Given the description of an element on the screen output the (x, y) to click on. 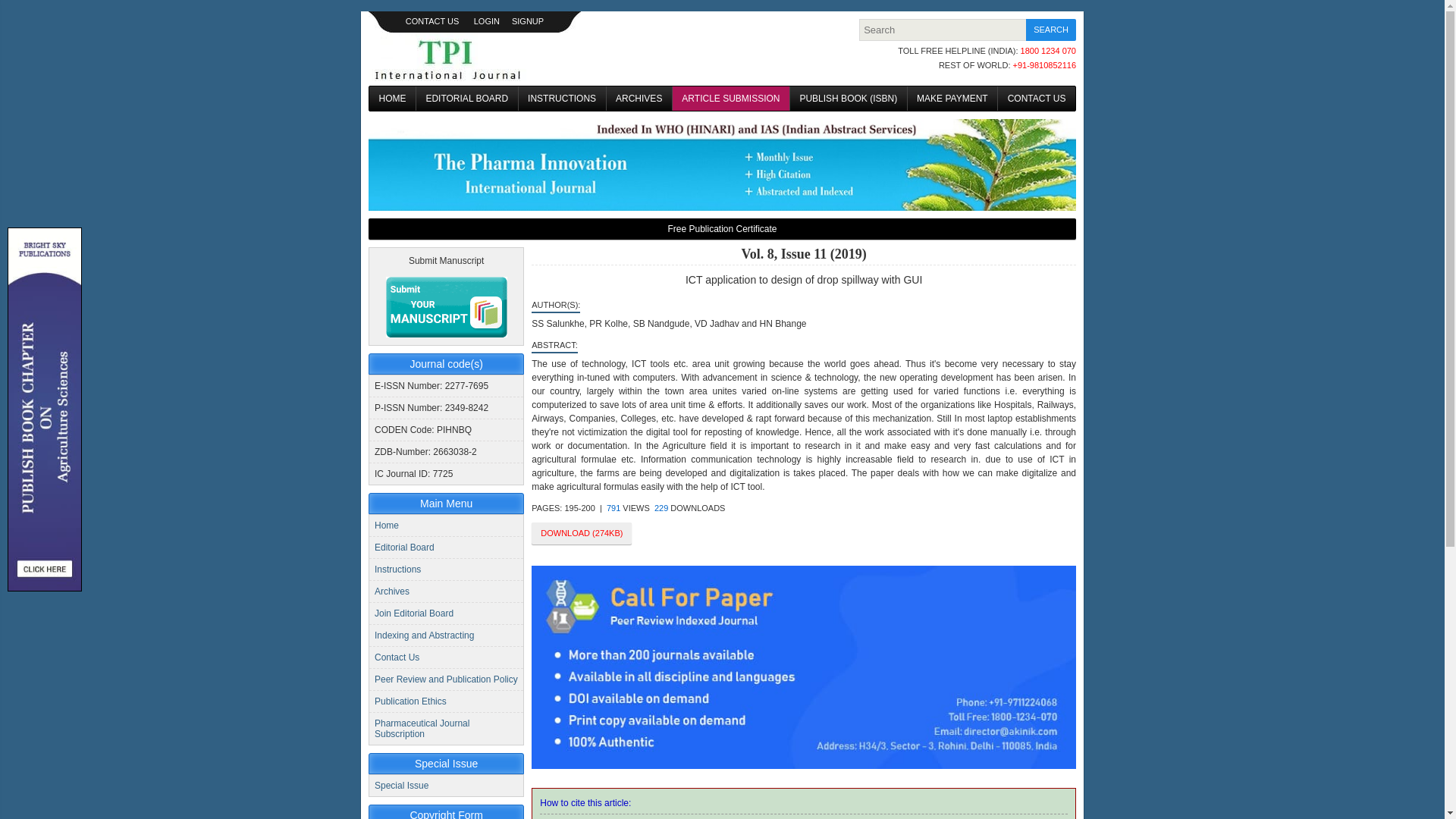
CONTACT US (1036, 98)
Instructions (397, 569)
Peer Review and Publication Policy (446, 679)
Editorial Board (403, 547)
ARTICLE SUBMISSION (730, 98)
HOME (391, 98)
CONTACT US (433, 20)
Join Editorial Board (413, 613)
INSTRUCTIONS (561, 98)
Indexing and Abstracting (424, 634)
Submit Manuscript in The Pharma Innovation Journal (445, 306)
search (1050, 29)
SIGNUP (527, 20)
Archives (391, 591)
The Pharma Innovation Journal (447, 57)
